Given the description of an element on the screen output the (x, y) to click on. 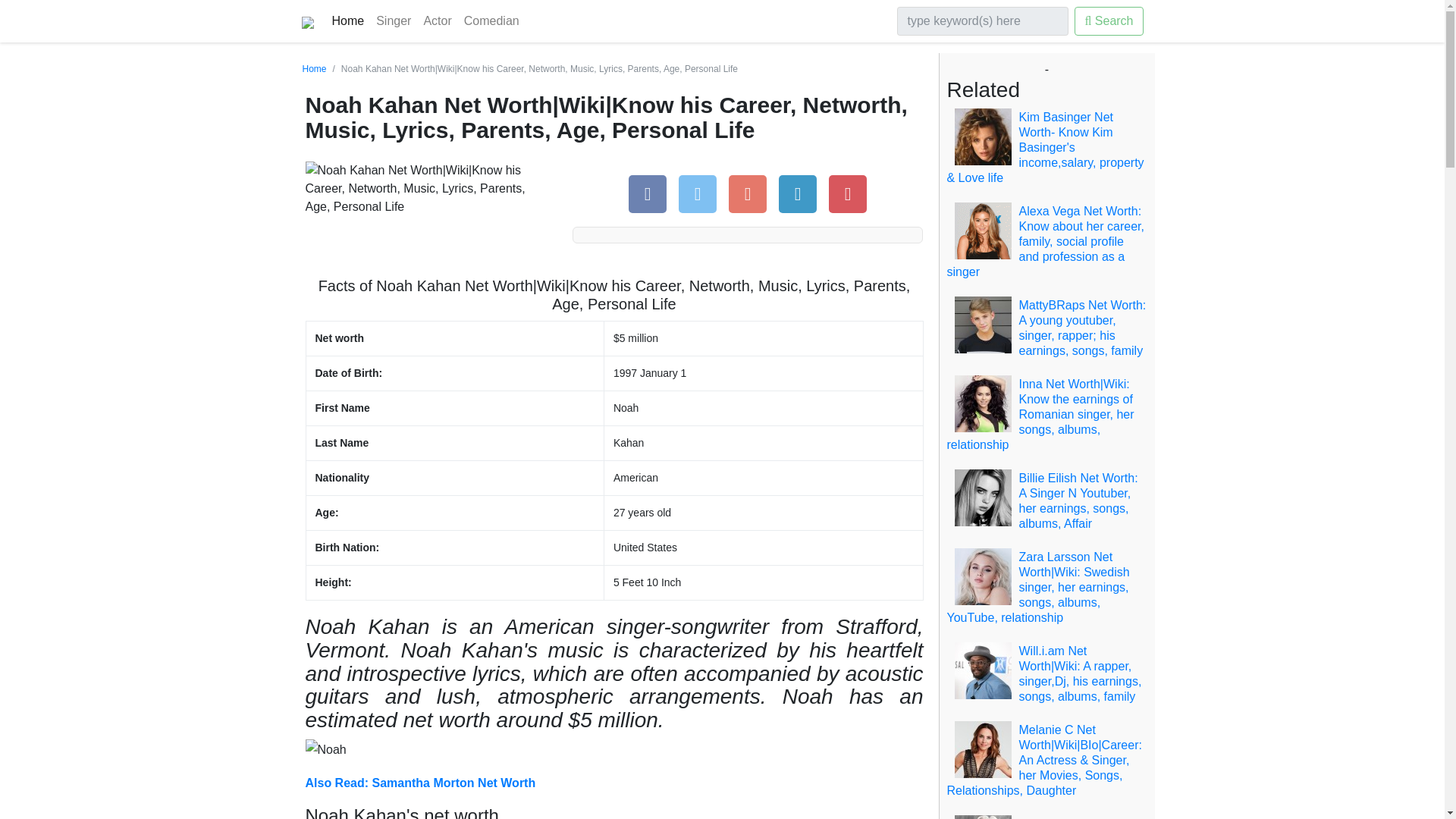
Search (1108, 21)
Comedian (491, 20)
Home (313, 68)
Also Read: Samantha Morton Net Worth (419, 782)
Singer (392, 20)
Actor (436, 20)
